Given the description of an element on the screen output the (x, y) to click on. 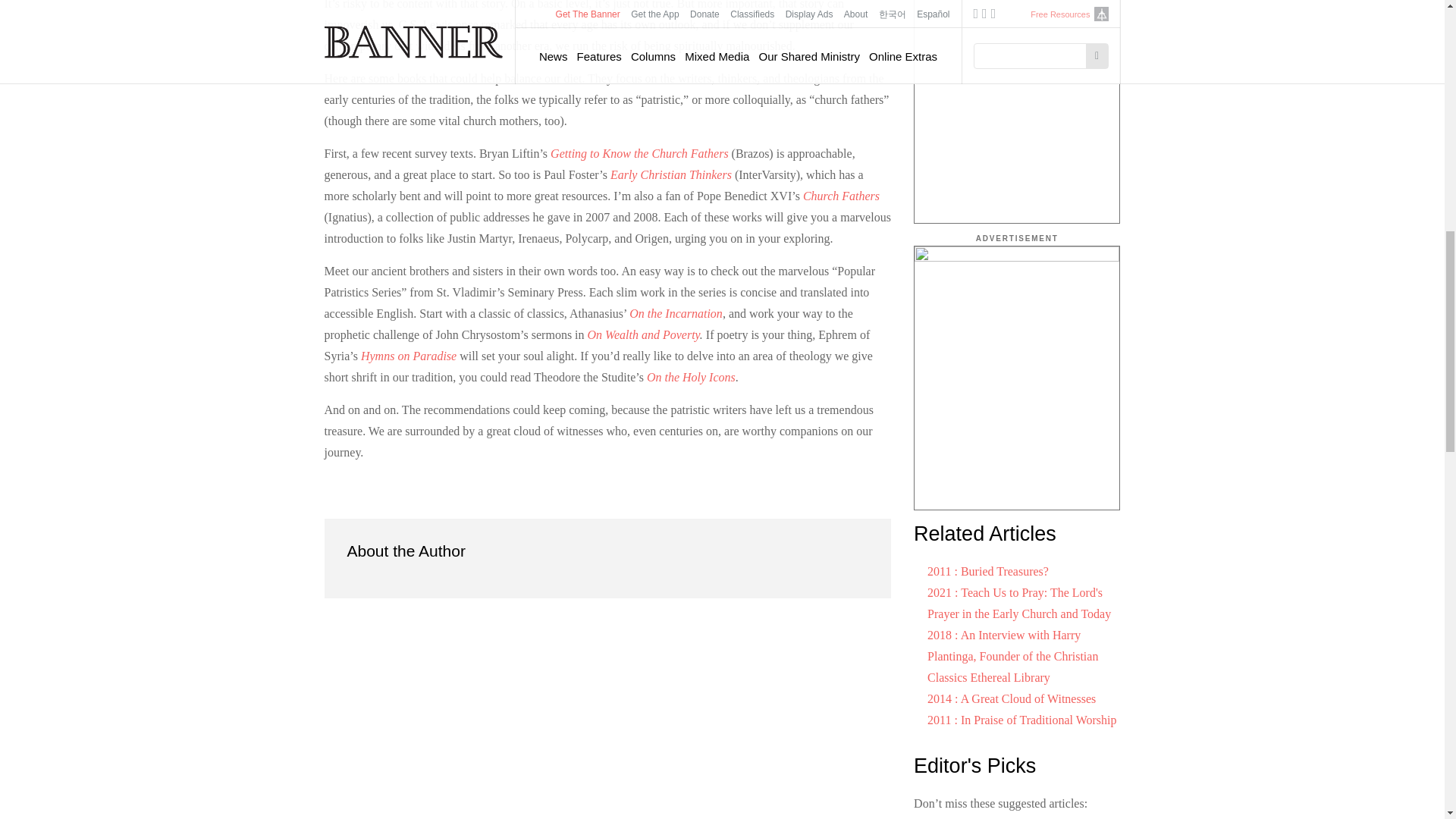
Church Fathers (841, 195)
Getting to Know the Church Fathers (639, 153)
2011 : Buried Treasures? (987, 571)
Hymns on Paradise (409, 355)
On the Incarnation (675, 313)
On Wealth and Poverty (644, 334)
Early Christian Thinkers (671, 174)
On the Holy Icons (690, 377)
